Given the description of an element on the screen output the (x, y) to click on. 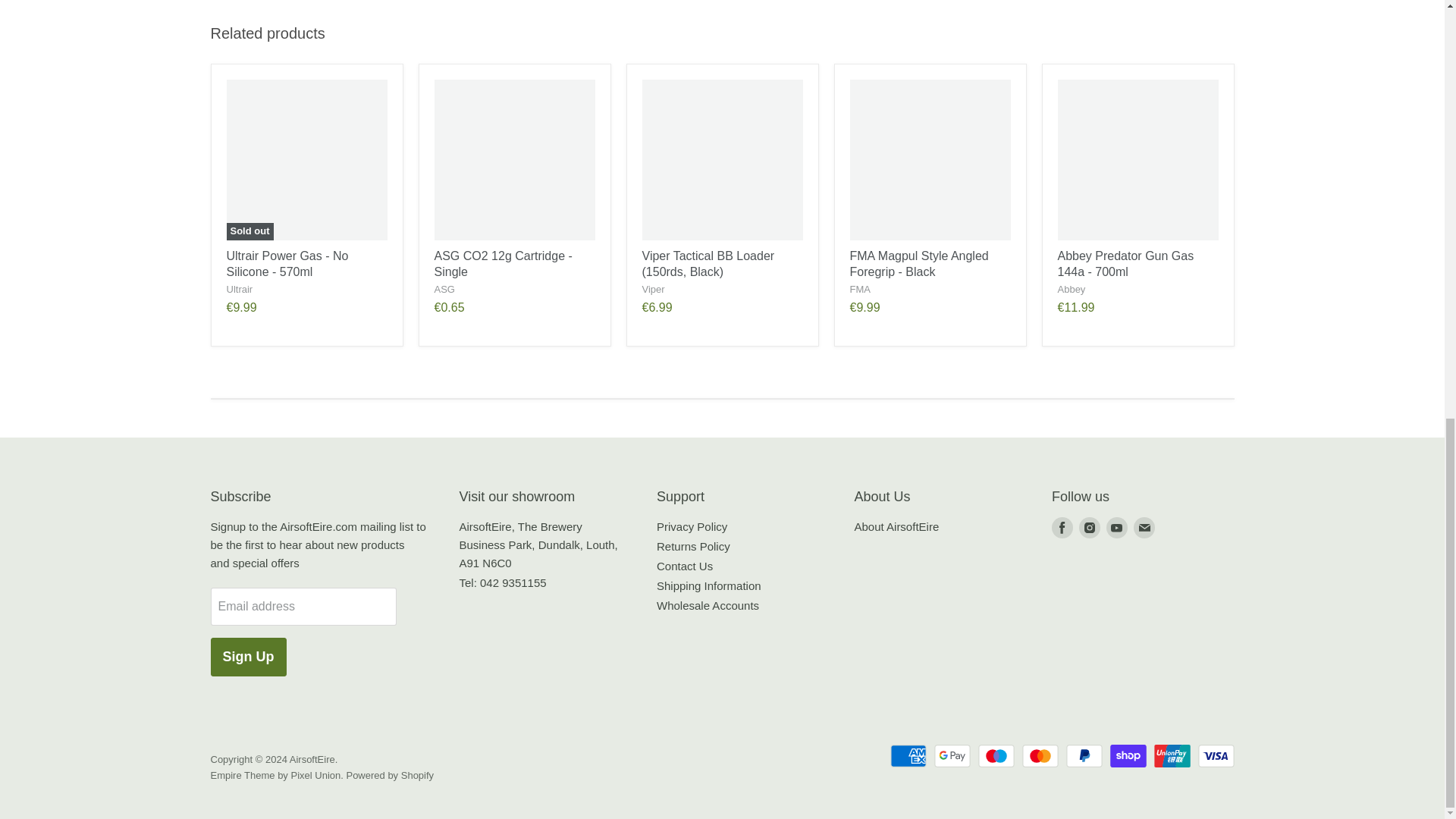
Instagram (1089, 527)
Privacy Policy (691, 526)
Wholesale Accounts (707, 604)
E-mail (1144, 527)
American Express (907, 755)
Facebook (1061, 527)
Returns Policy (693, 545)
Contact Us (684, 565)
Youtube (1117, 527)
Delivery (708, 585)
